Given the description of an element on the screen output the (x, y) to click on. 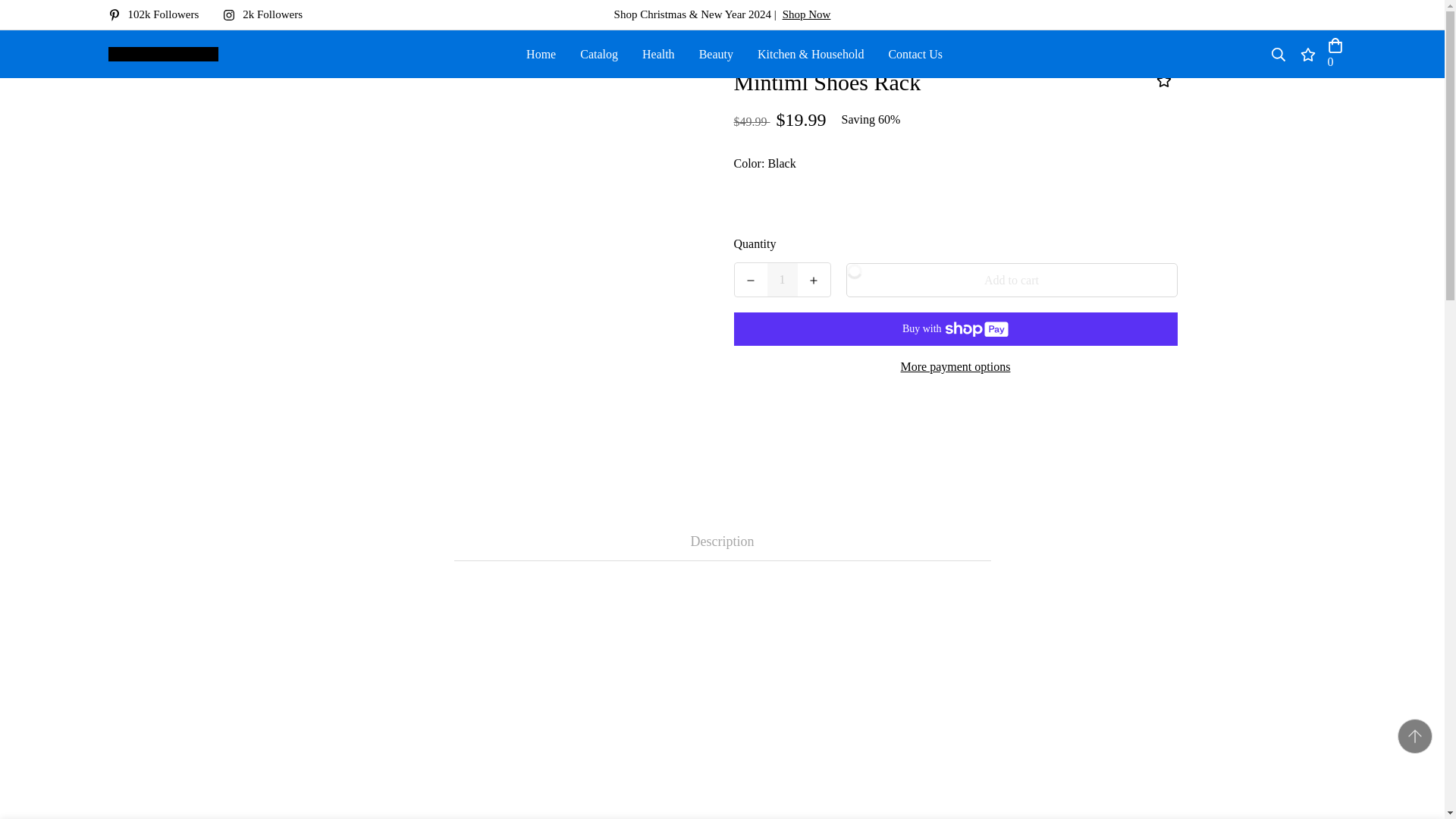
Beauty (716, 53)
Health (658, 53)
Home (540, 53)
Shop Now (807, 14)
1 (782, 279)
102k Followers (158, 14)
0 (1335, 53)
Catalog (598, 53)
Contact Us (915, 53)
2k Followers (268, 14)
